Given the description of an element on the screen output the (x, y) to click on. 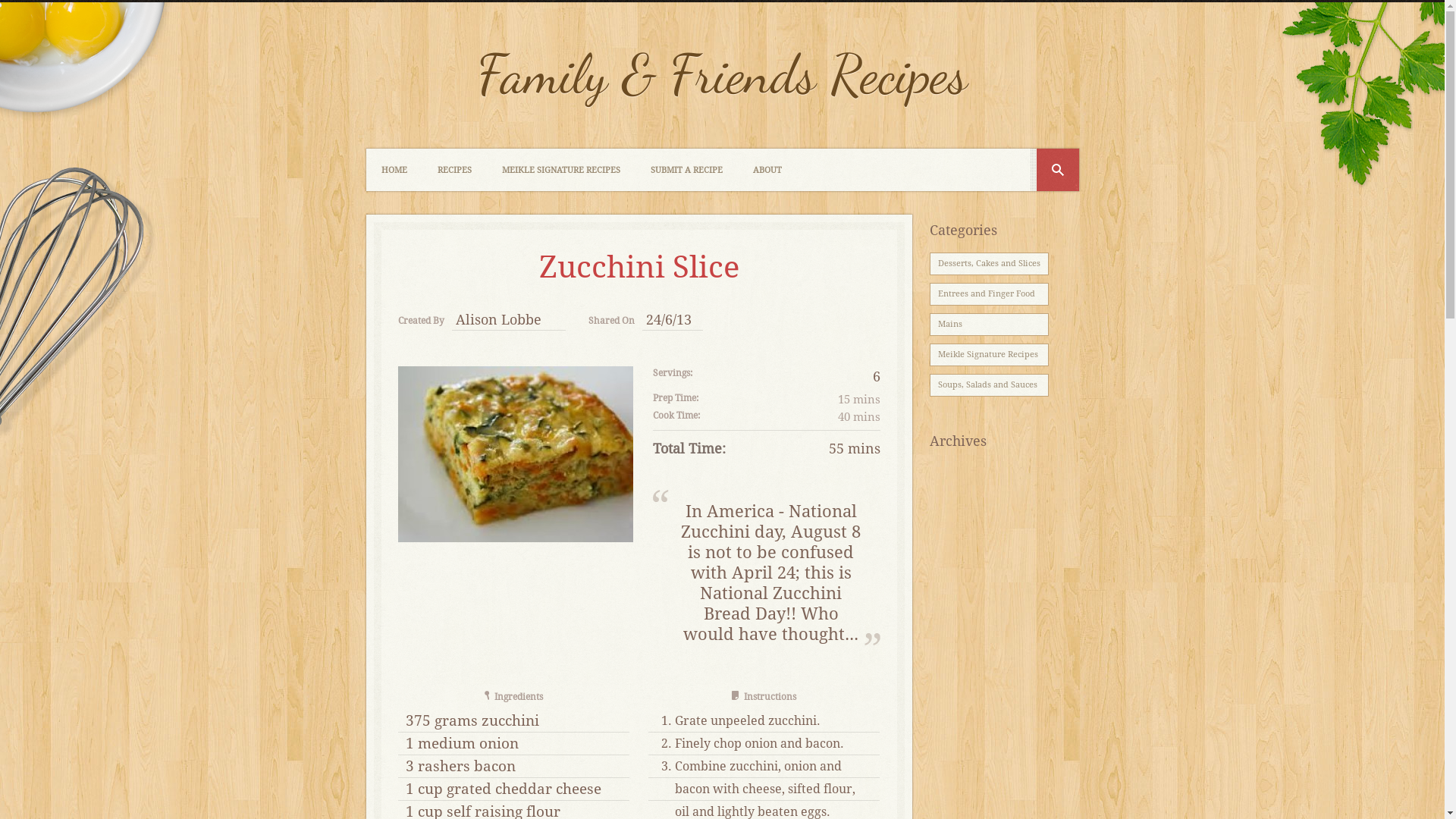
ABOUT Element type: text (766, 169)
Mains Element type: text (988, 324)
Desserts, Cakes and Slices Element type: text (988, 263)
RECIPES Element type: text (453, 169)
Zucchini Slice Element type: hover (514, 454)
HOME Element type: text (393, 169)
Meikle Signature Recipes Element type: text (988, 354)
Soups, Salads and Sauces Element type: text (988, 384)
MEIKLE SIGNATURE RECIPES Element type: text (560, 169)
Family & Friends Recipes Element type: text (721, 74)
Entrees and Finger Food Element type: text (988, 293)
Search Element type: text (1056, 169)
SUBMIT A RECIPE Element type: text (686, 169)
